Given the description of an element on the screen output the (x, y) to click on. 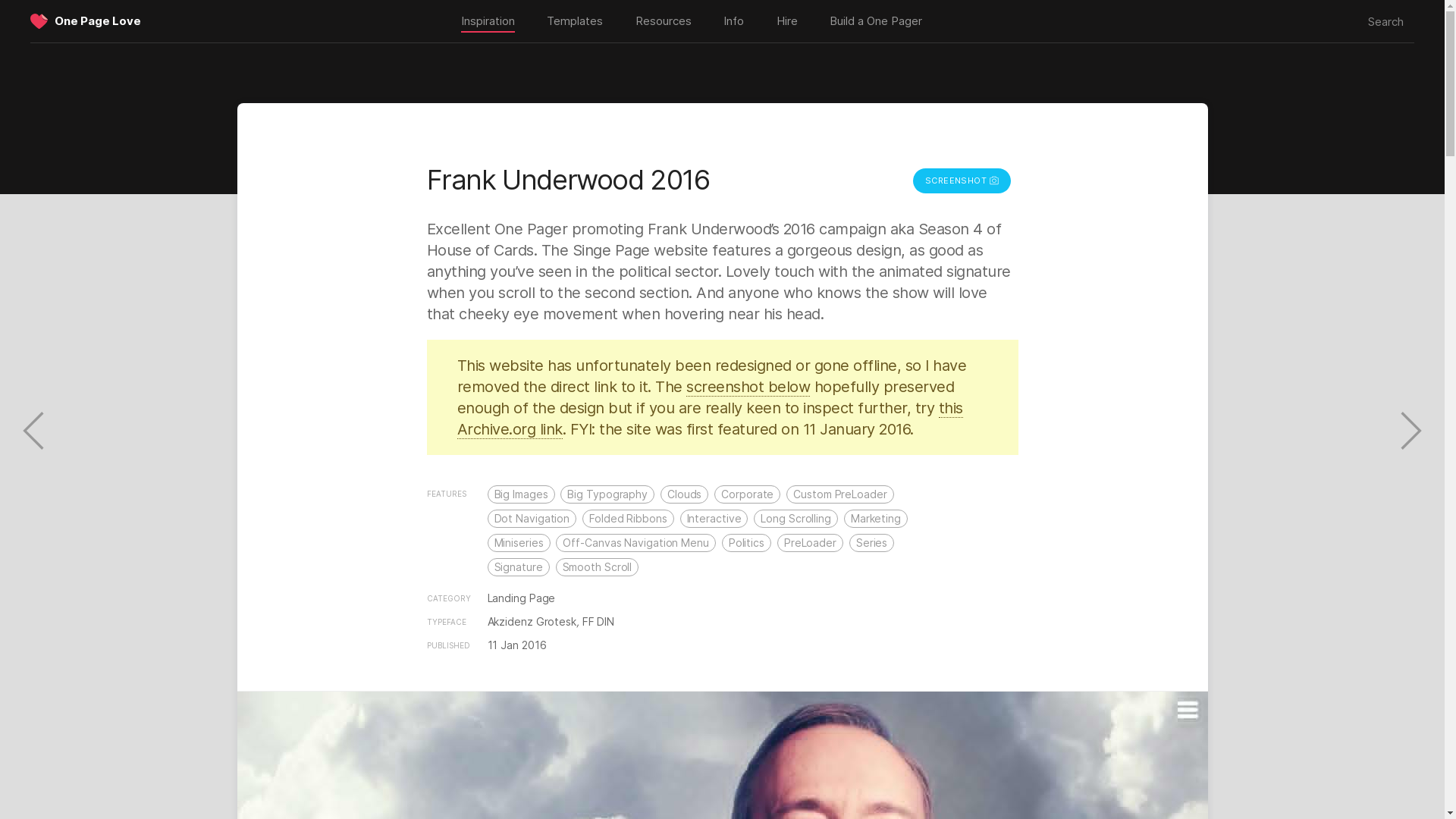
Go to the One Page Love home page (98, 20)
Inspiration (487, 22)
Go to the One Page Love home page (39, 22)
One Page Love (98, 20)
One Page website inspiration gallery (487, 22)
Find One Page website templates (573, 21)
